Given the description of an element on the screen output the (x, y) to click on. 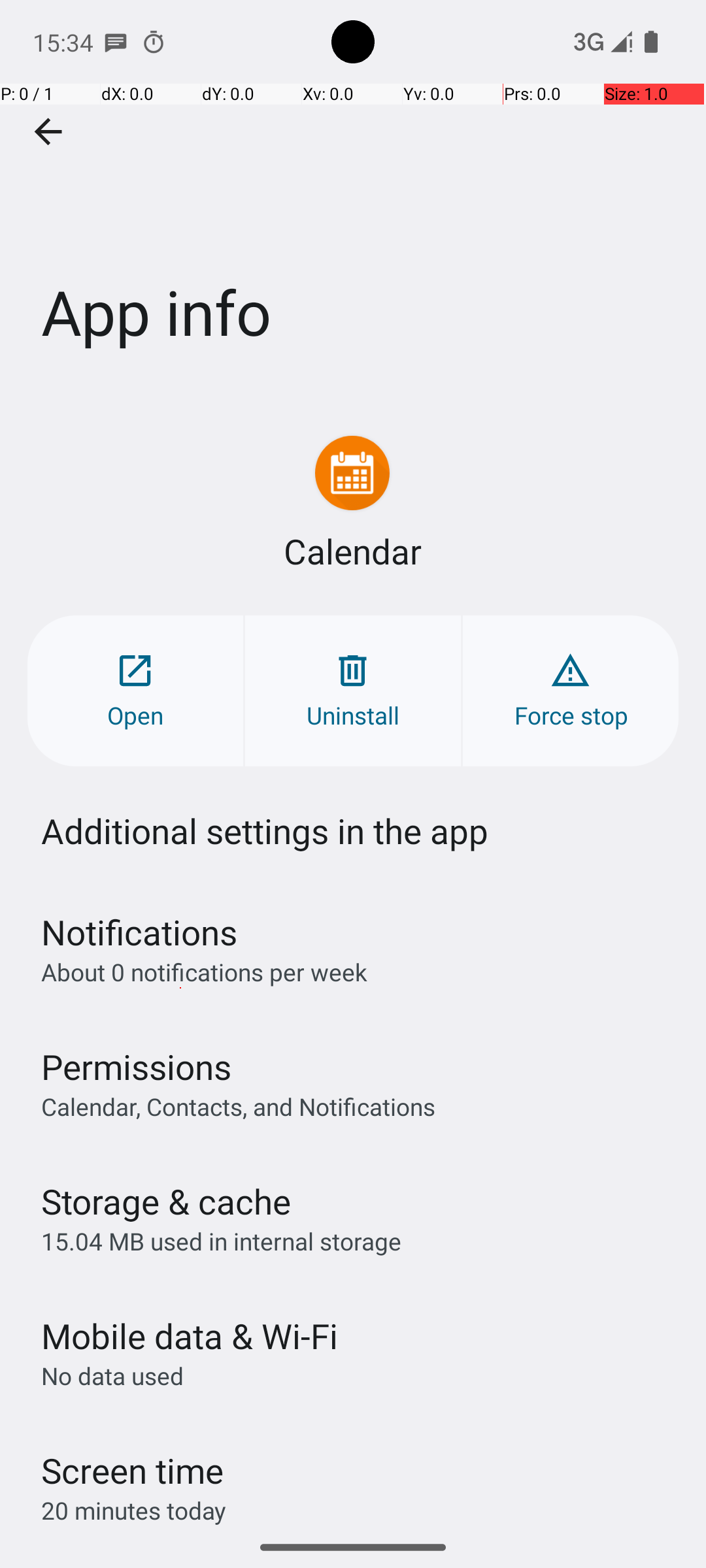
Additional settings in the app Element type: android.widget.TextView (264, 830)
Calendar, Contacts, and Notifications Element type: android.widget.TextView (238, 1106)
15.04 MB used in internal storage Element type: android.widget.TextView (221, 1240)
20 minutes today Element type: android.widget.TextView (133, 1509)
